Given the description of an element on the screen output the (x, y) to click on. 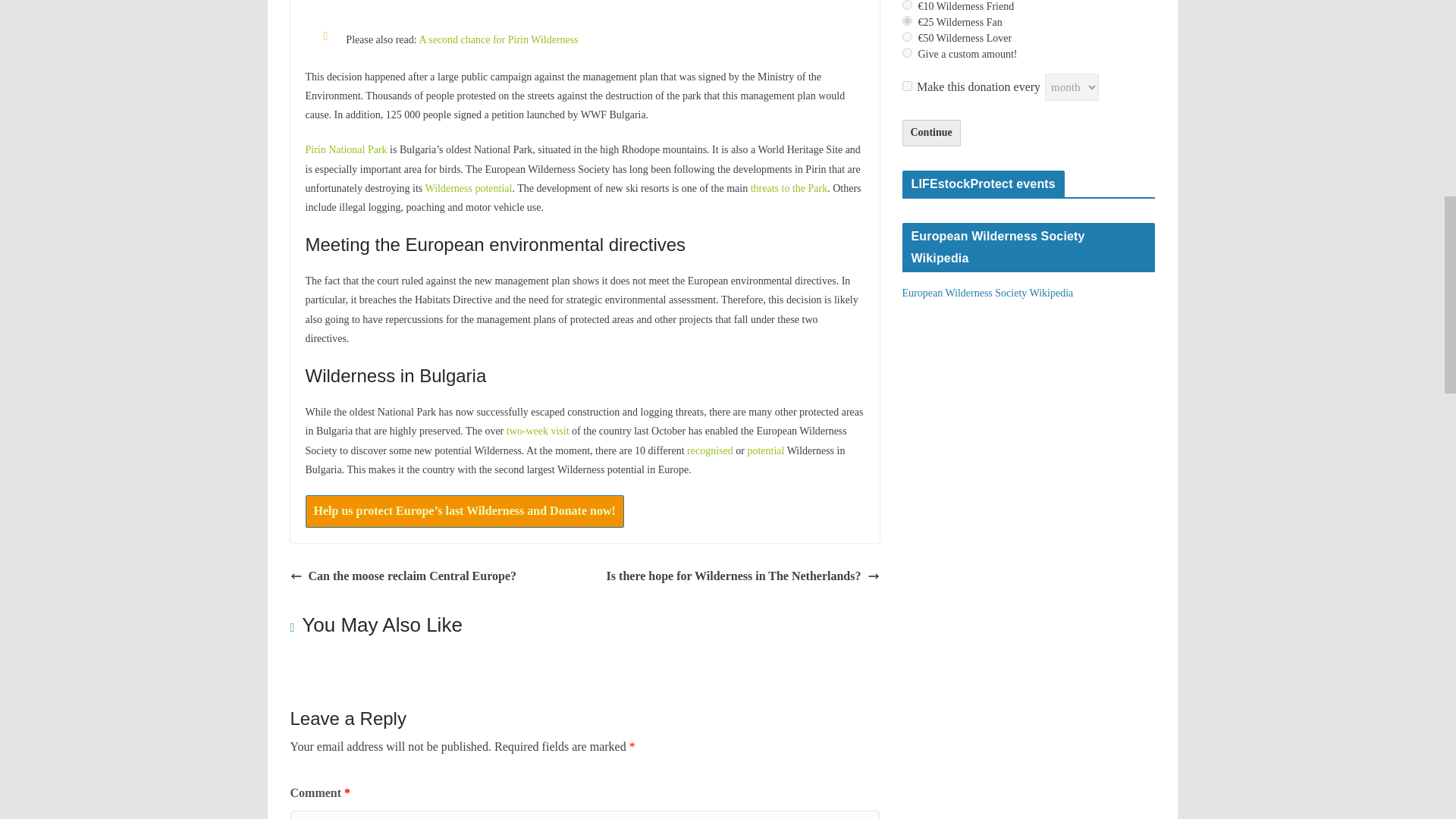
10.78 (907, 4)
26.96 (907, 20)
53.92 (907, 36)
on (907, 85)
custom (907, 52)
